Given the description of an element on the screen output the (x, y) to click on. 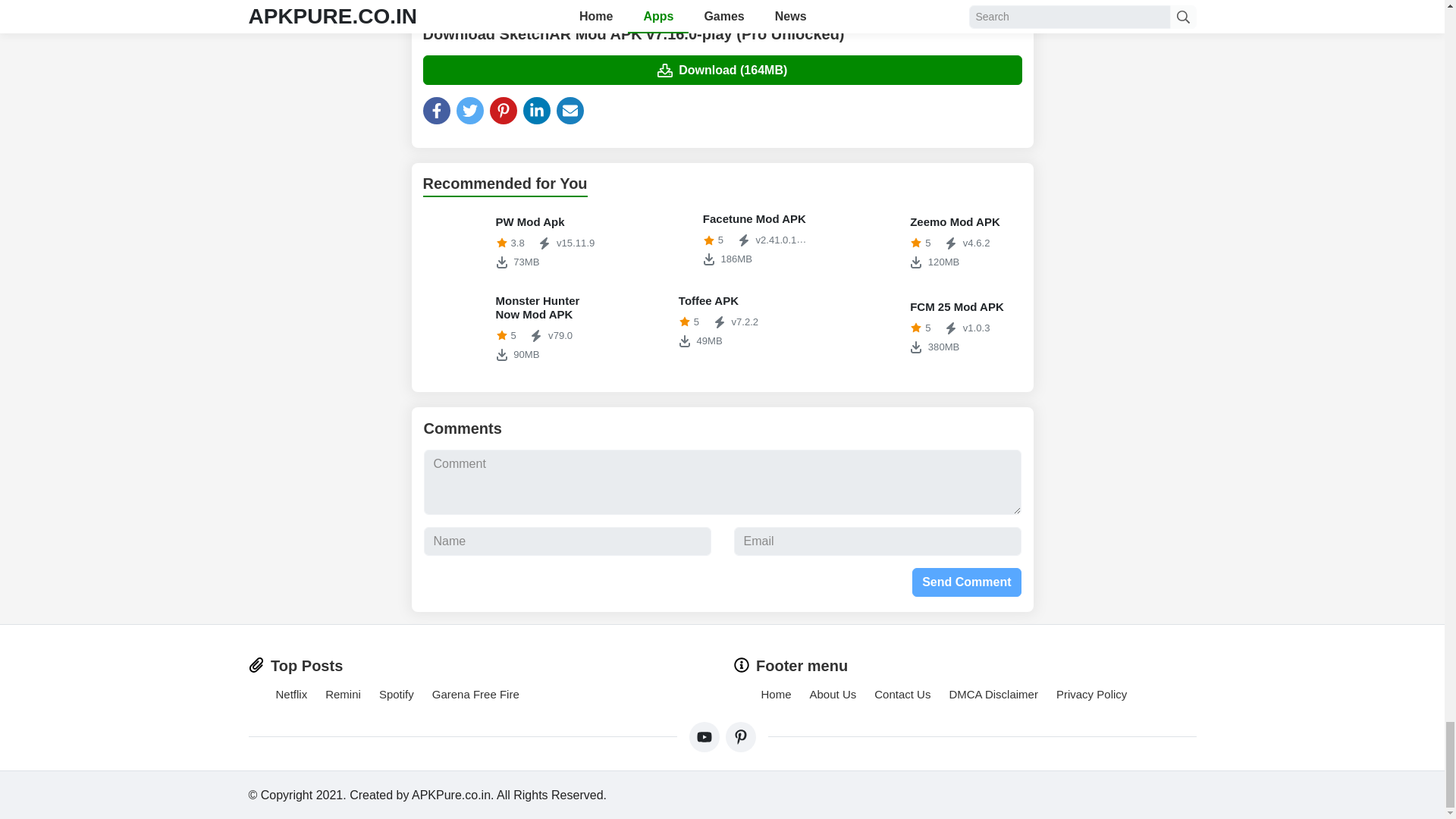
Garena Free Fire (475, 694)
 Toffee APK (721, 321)
Send Comment (966, 582)
Remini (342, 694)
 FCM 25 Mod APK (870, 327)
 Zeemo Mod APK (929, 327)
 PW Mod Apk  (929, 242)
Netflix (456, 242)
 Facetune Mod APK  (291, 694)
Spotify (721, 239)
 Monster Hunter Now Mod APK (721, 239)
Home (395, 694)
